Given the description of an element on the screen output the (x, y) to click on. 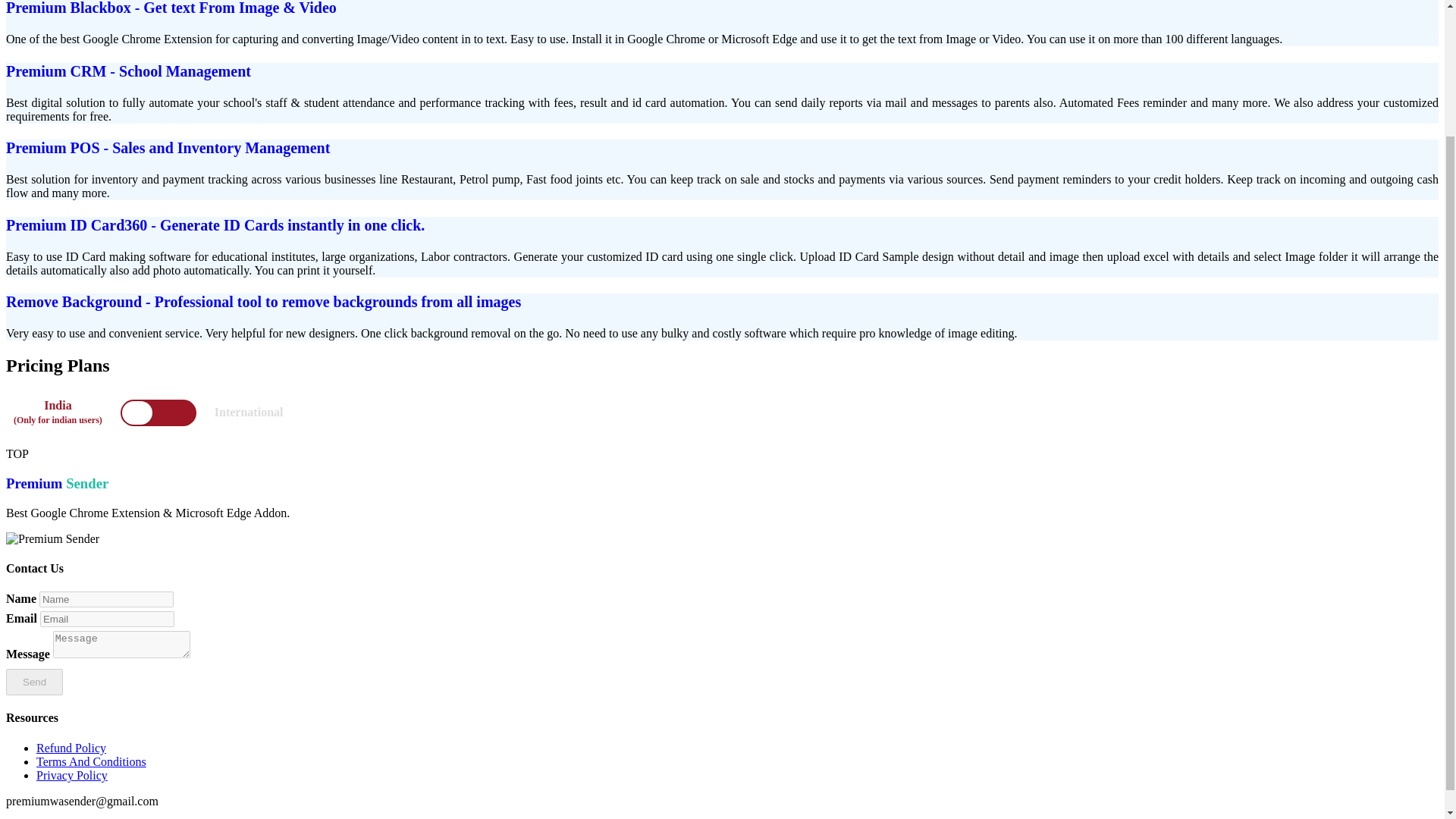
Premium POS - Sales and Inventory Management (167, 147)
Privacy Policy (71, 775)
Terms And Conditions (91, 761)
Send (33, 682)
Refund Policy (71, 748)
Premium CRM - School Management (127, 71)
Send (33, 682)
